Given the description of an element on the screen output the (x, y) to click on. 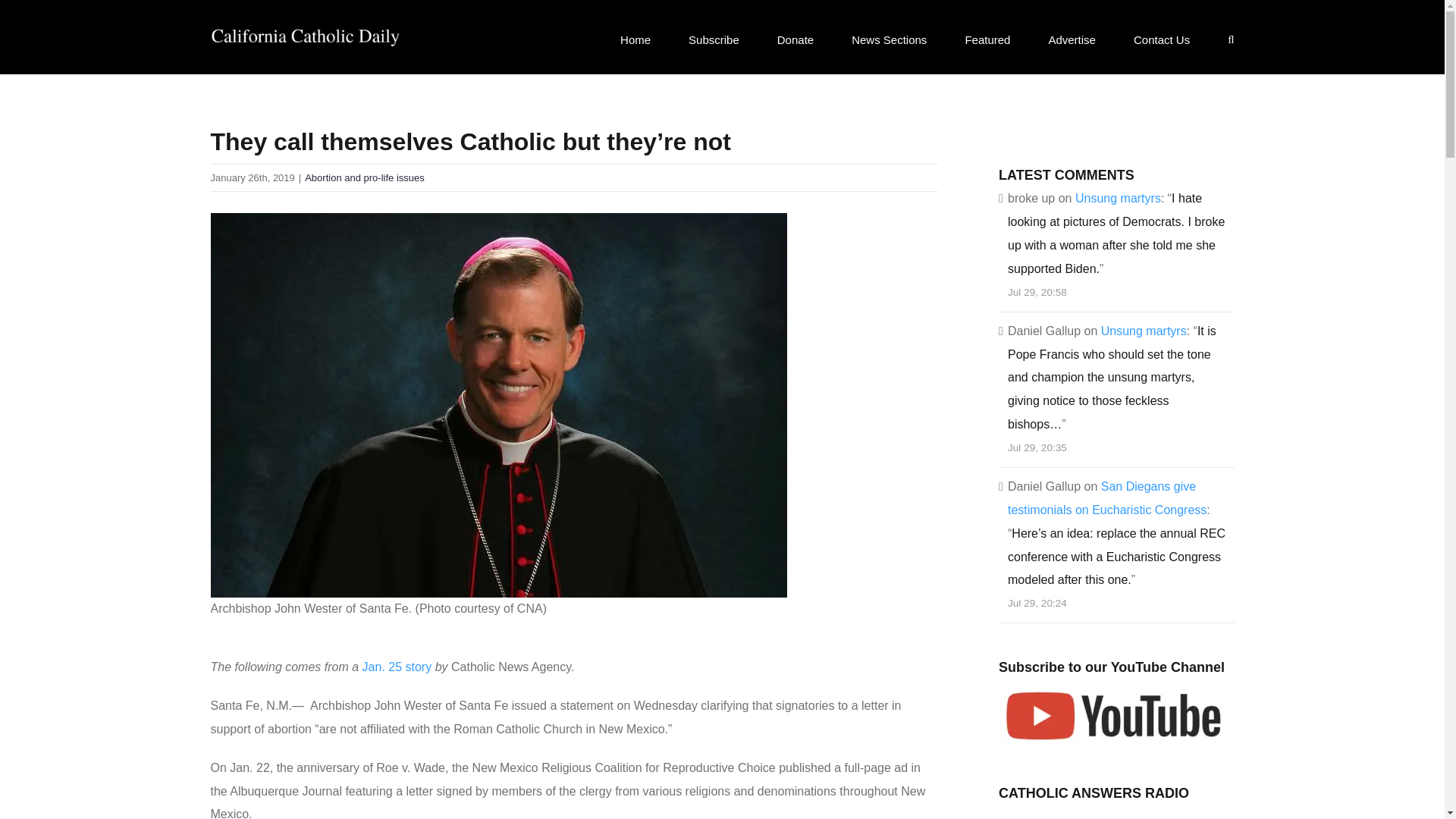
News Sections (888, 39)
